Given the description of an element on the screen output the (x, y) to click on. 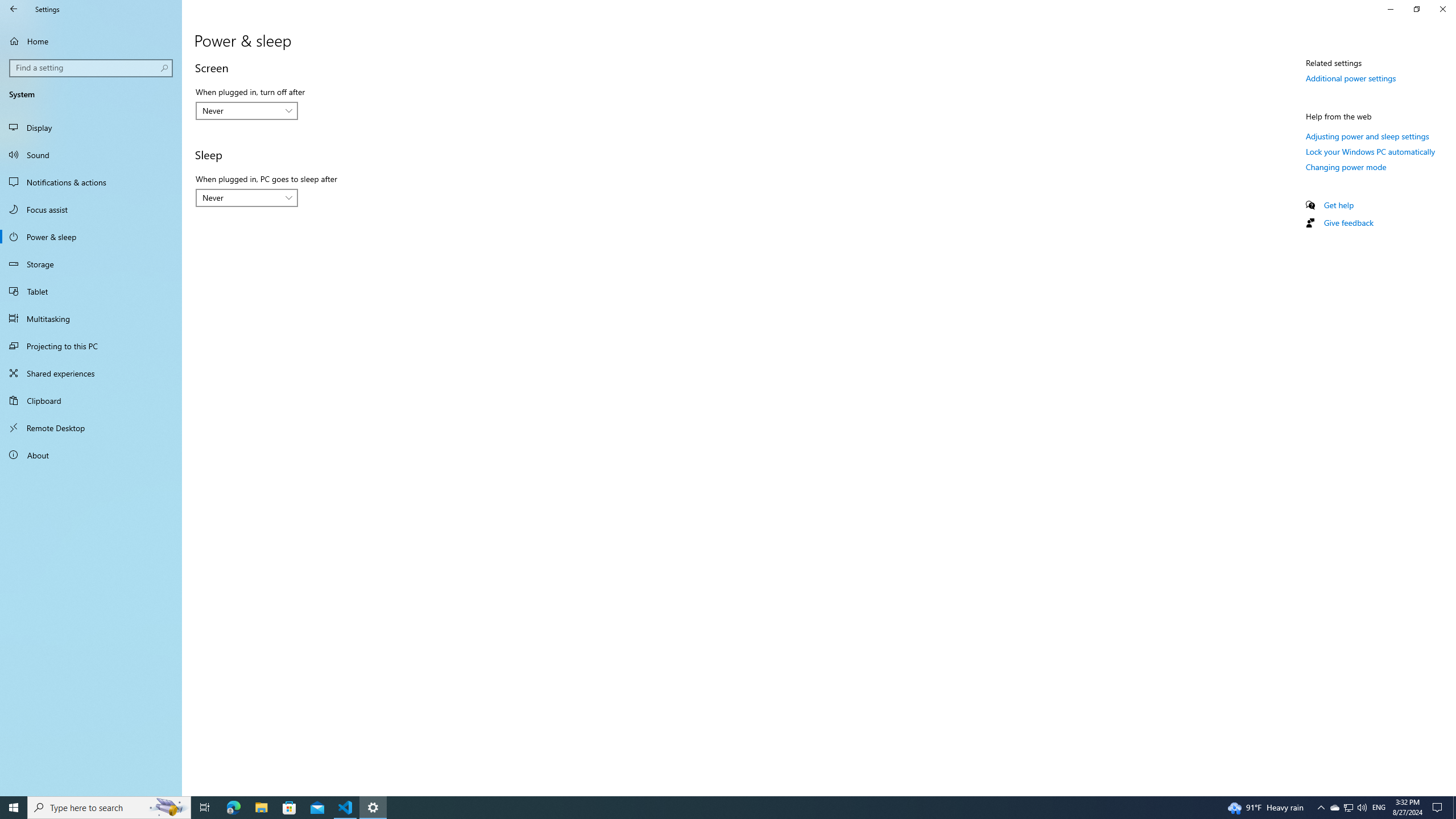
Home (91, 40)
Clipboard (91, 400)
When plugged in, PC goes to sleep after (246, 198)
Multitasking (91, 318)
Close Settings (1442, 9)
Display (91, 126)
When plugged in, turn off after (246, 110)
Give feedback (1348, 222)
Power & sleep (91, 236)
